Given the description of an element on the screen output the (x, y) to click on. 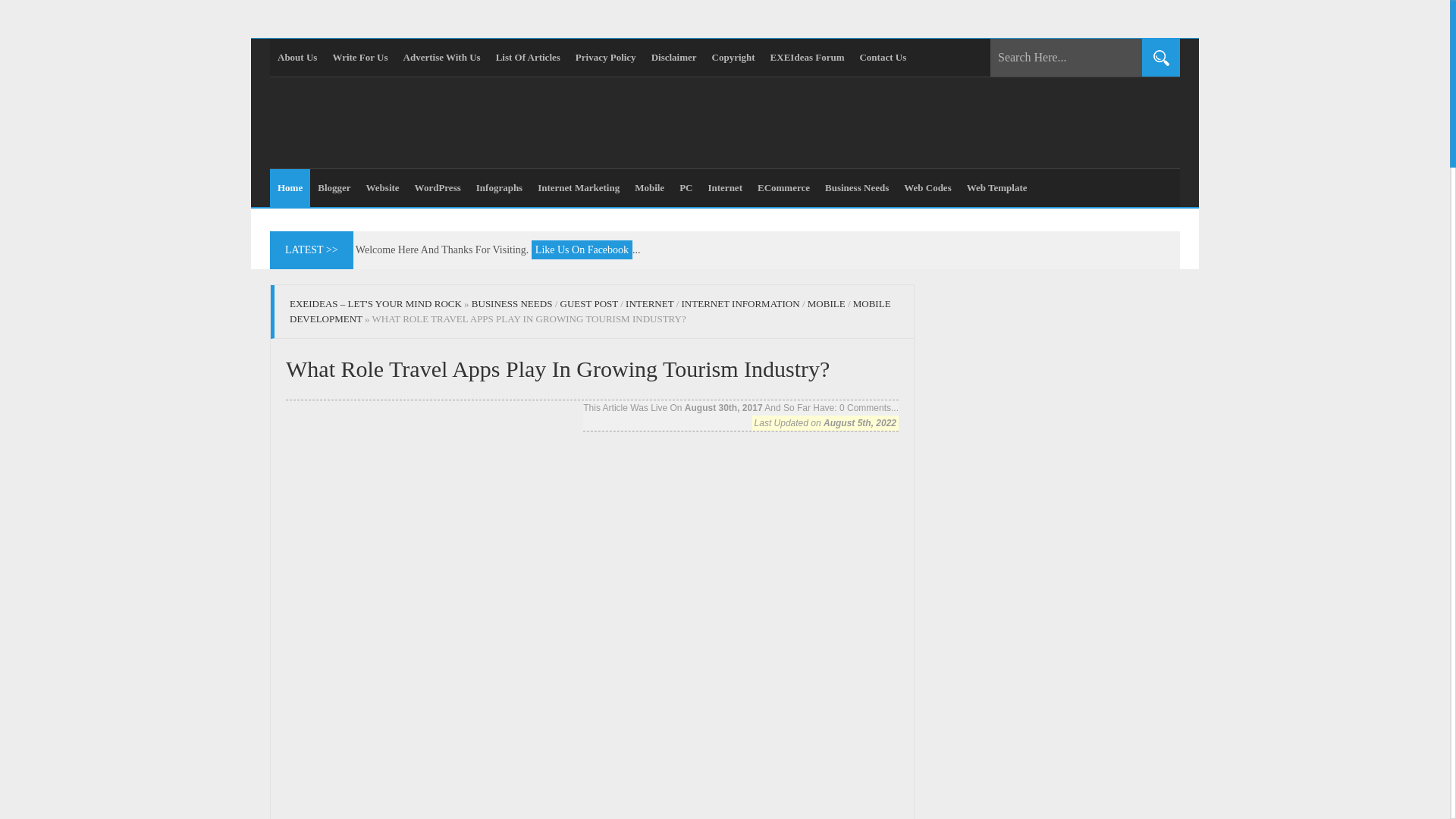
Like Us On Facebook (581, 249)
Website (382, 187)
INTERNET INFORMATION (740, 303)
Internet Marketing (578, 187)
Blogger (334, 187)
EXEIdeas Forum (806, 57)
Advertisement (592, 507)
Advertise With Us (441, 57)
Mobile (649, 187)
Business Needs (856, 187)
